Given the description of an element on the screen output the (x, y) to click on. 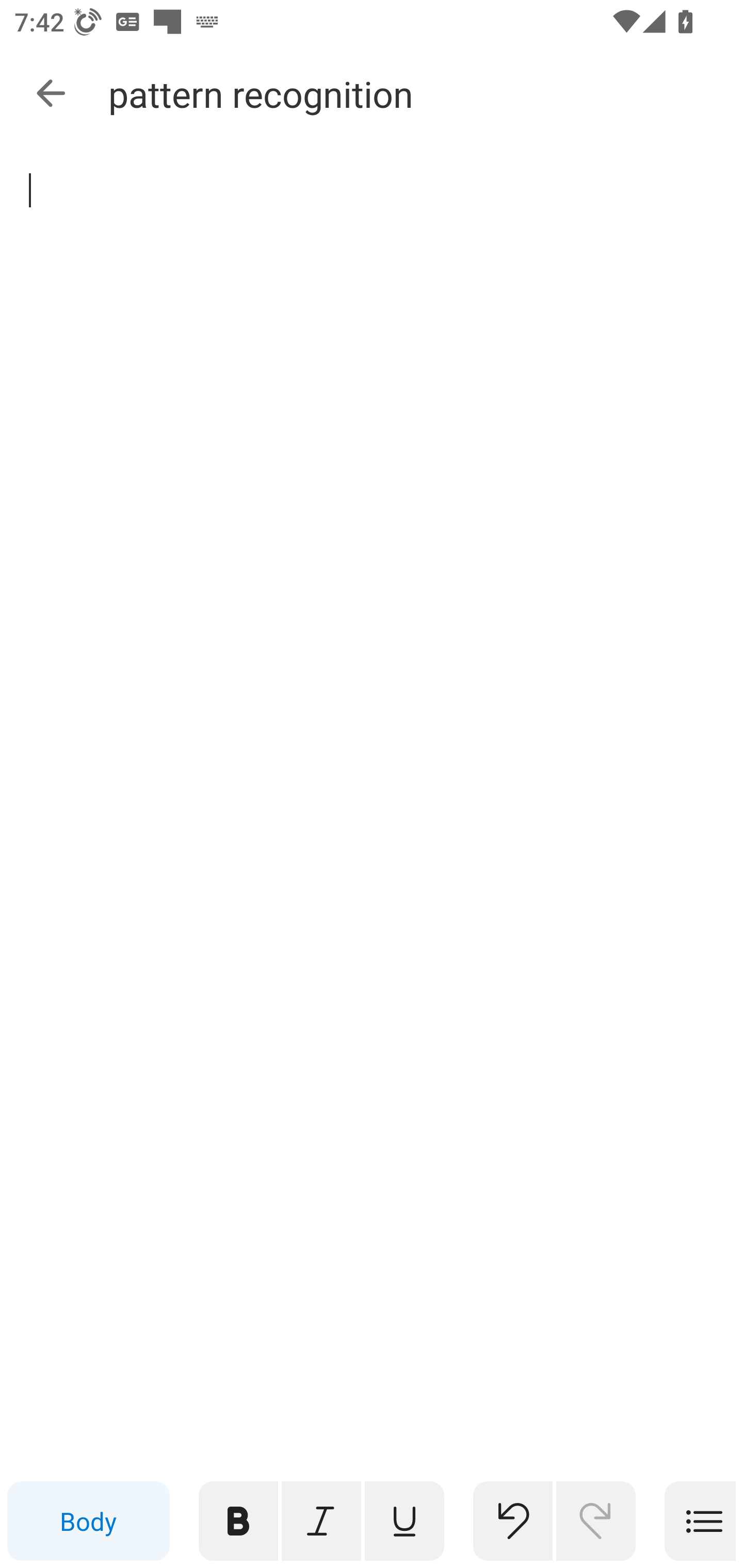
Dismiss detail view (50, 93)
Incomplete task pattern recognition, Button (50, 192)
Body Font style button body (88, 1520)
Bold (237, 1520)
Italic (321, 1520)
Underline (404, 1520)
Undo (512, 1520)
Redo (596, 1520)
Bullet (699, 1520)
